Given the description of an element on the screen output the (x, y) to click on. 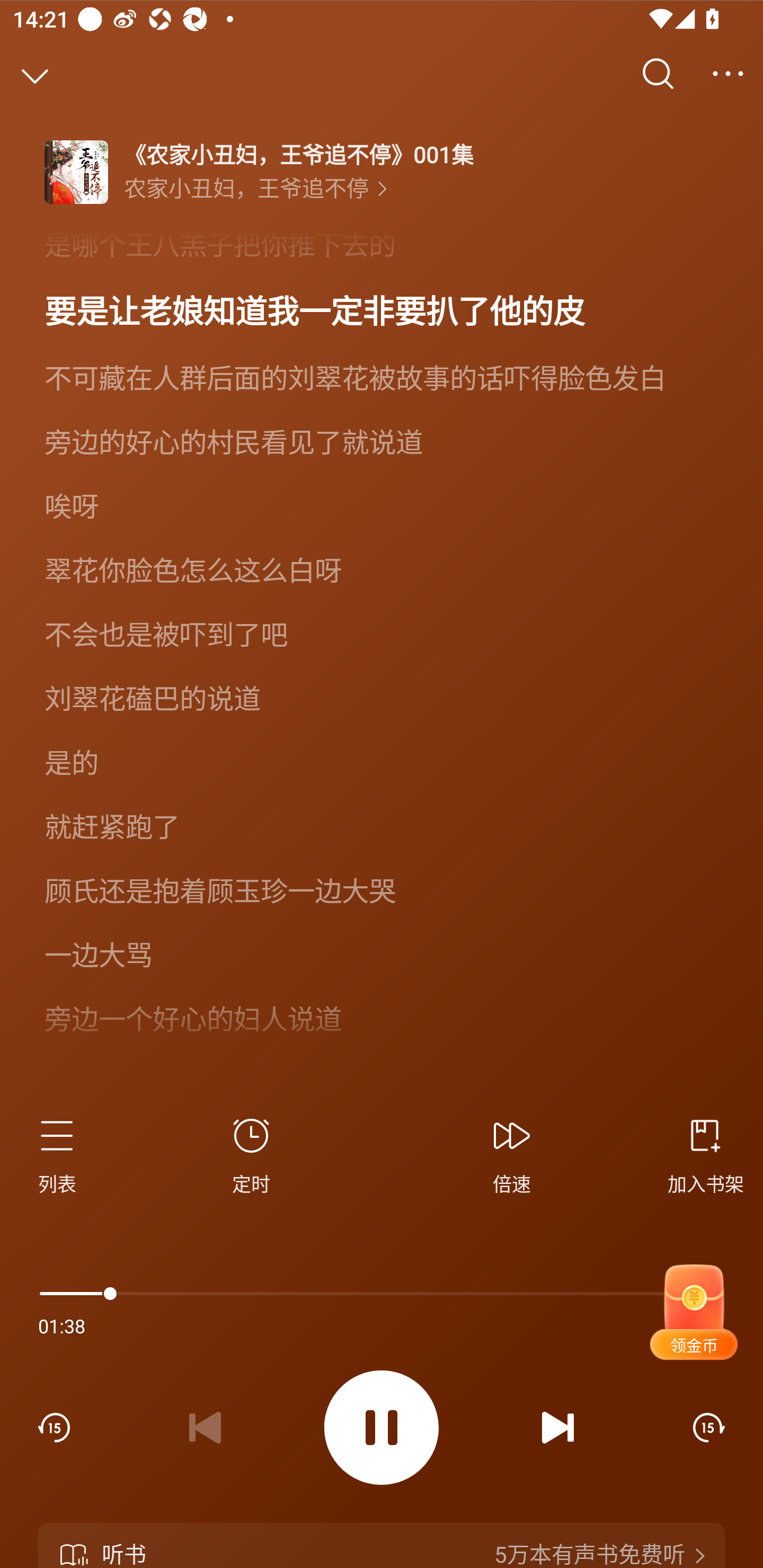
返回 (35, 73)
搜索 (657, 73)
更多 (727, 73)
农家小丑妇，王爷追不停 (255, 188)
列表，按钮 列表 (64, 1153)
定时，按钮 定时 (250, 1153)
倍速，按钮 倍速 (511, 1153)
加入书架，按钮 加入书架 (697, 1153)
暂停 (381, 1427)
后退十五秒 (53, 1427)
上一篇 (204, 1427)
下一篇 (557, 1427)
前进十五秒 (708, 1427)
听书 5万本有声书免费听 (381, 1545)
